Given the description of an element on the screen output the (x, y) to click on. 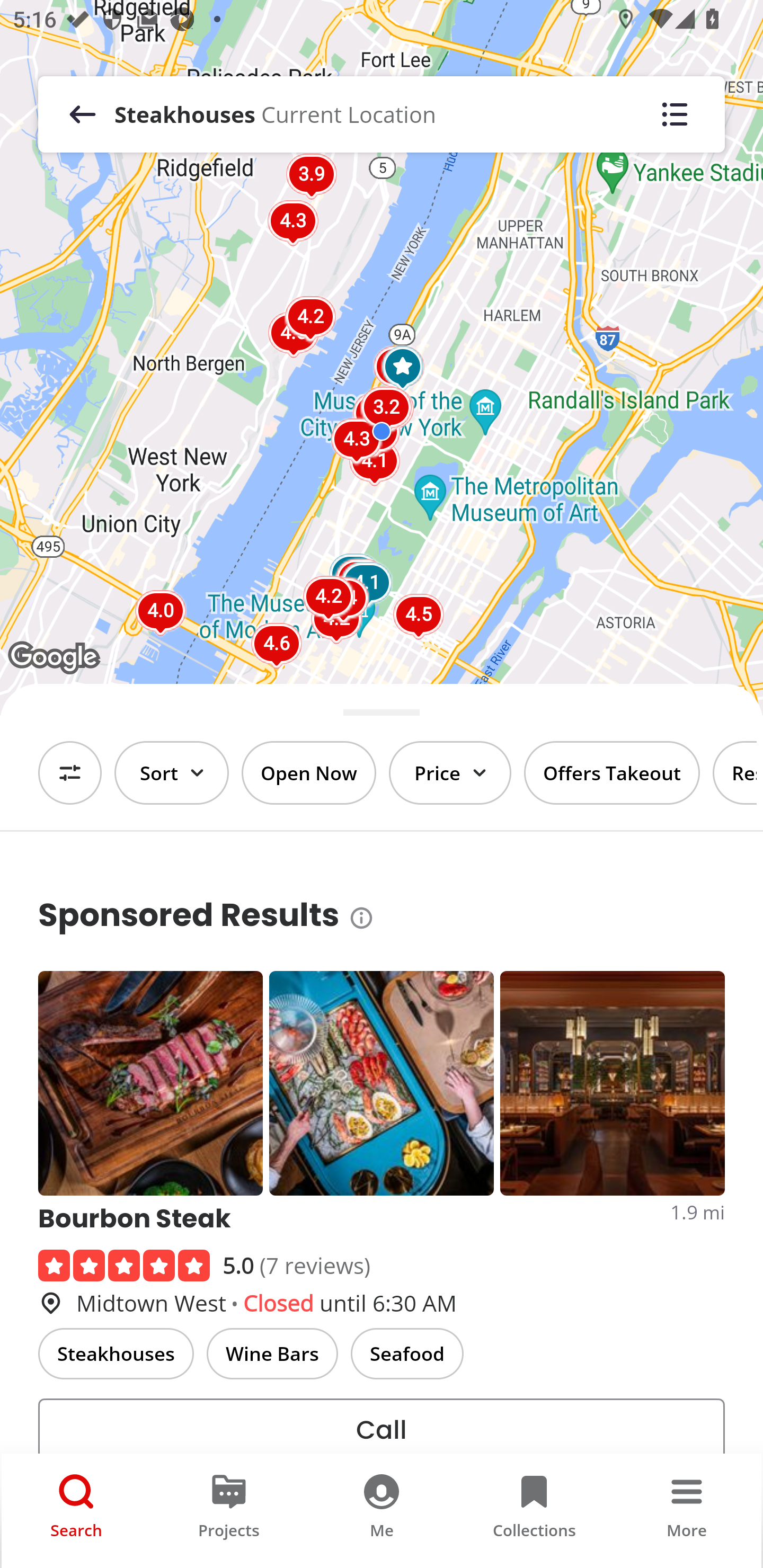
See all filters (69, 772)
